Given the description of an element on the screen output the (x, y) to click on. 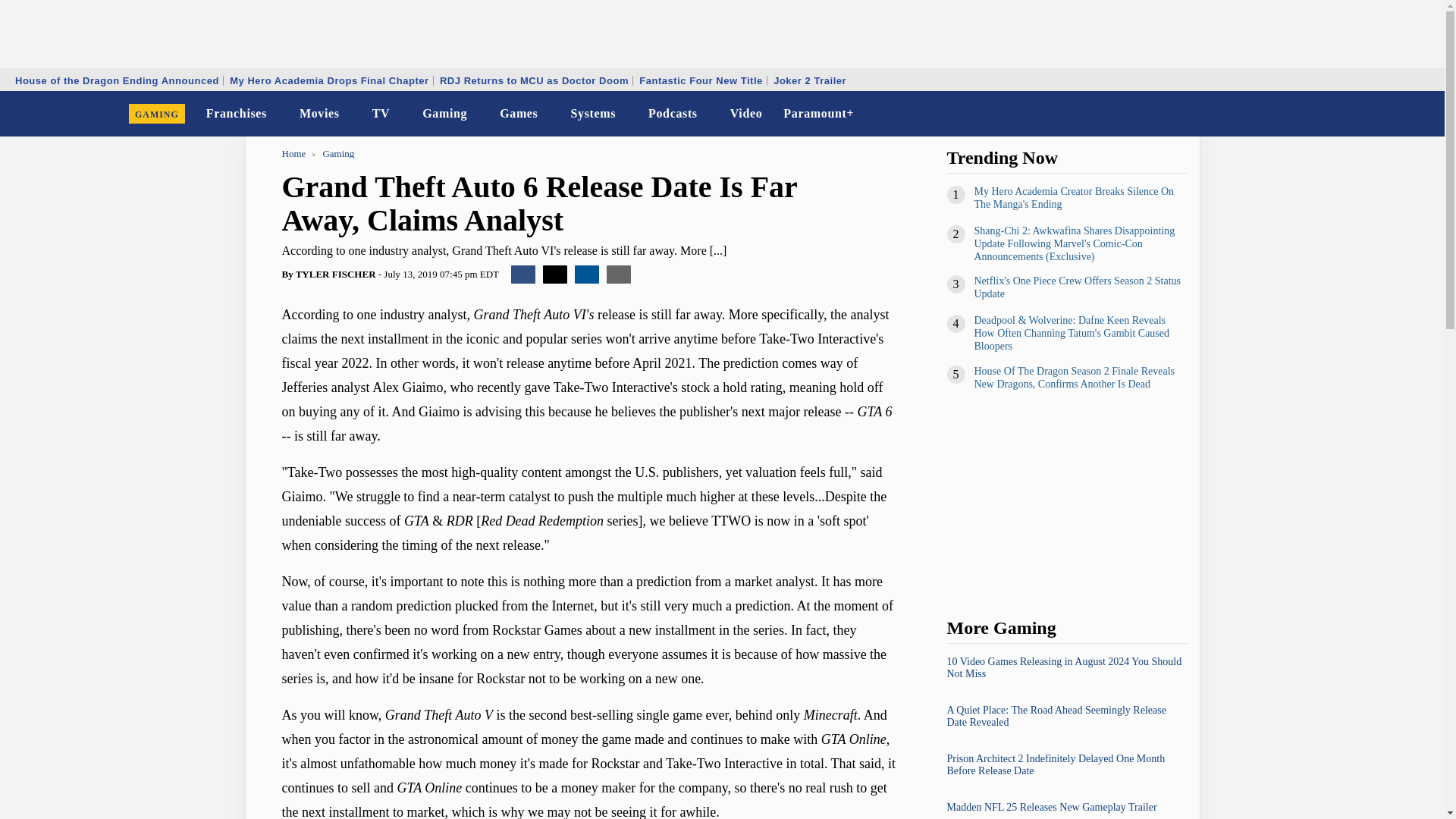
GAMING (157, 113)
House of the Dragon Ending Announced (116, 80)
Search (1422, 114)
Dark Mode (1394, 113)
Gaming (444, 113)
RDJ Returns to MCU as Doctor Doom (533, 80)
Fantastic Four New Title (700, 80)
Movies (320, 113)
Joker 2 Trailer (810, 80)
My Hero Academia Drops Final Chapter (328, 80)
